Given the description of an element on the screen output the (x, y) to click on. 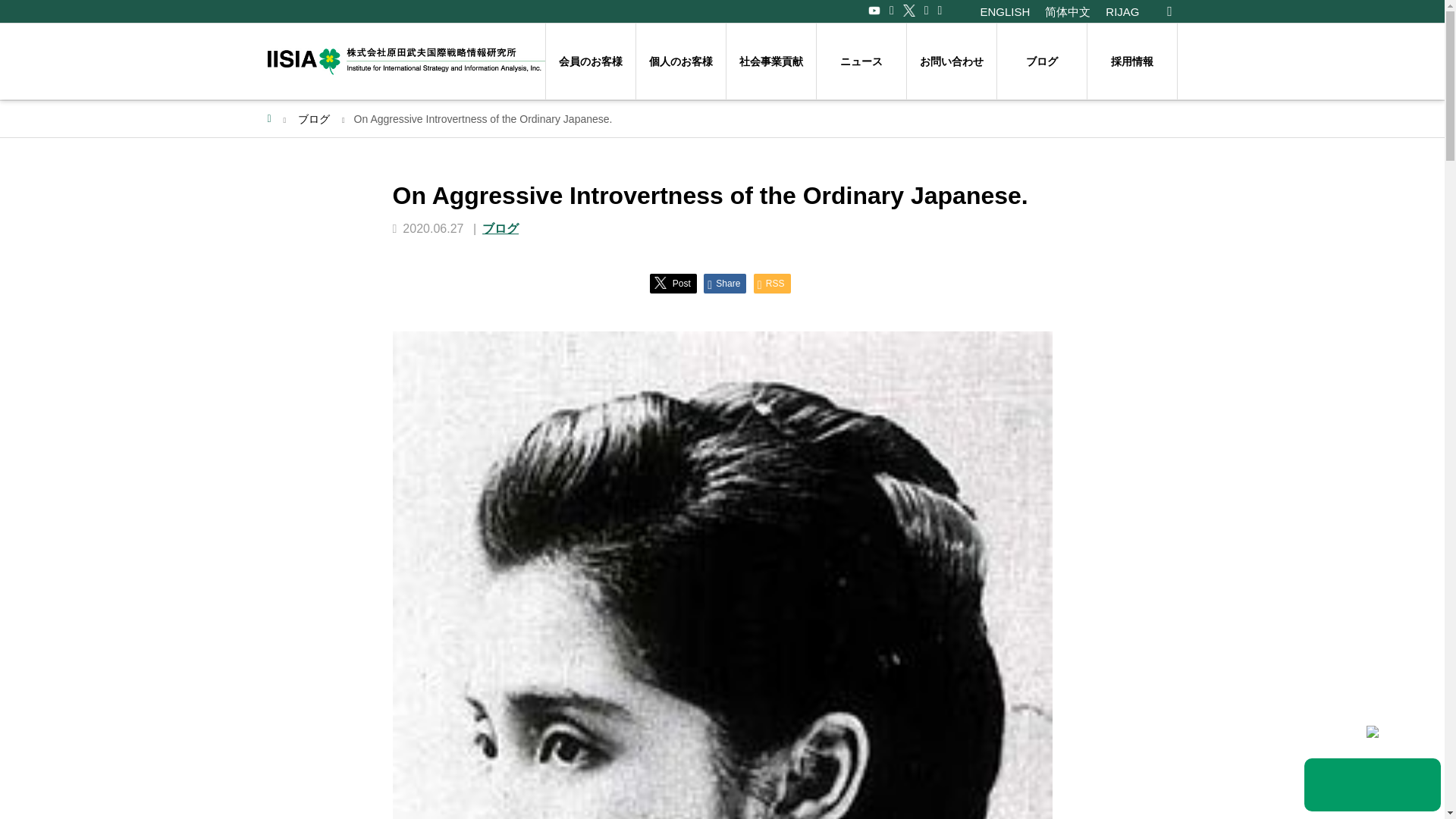
Share (724, 283)
RIJAG (1121, 10)
RSS (772, 283)
Post (672, 283)
ENGLISH (1004, 10)
